Given the description of an element on the screen output the (x, y) to click on. 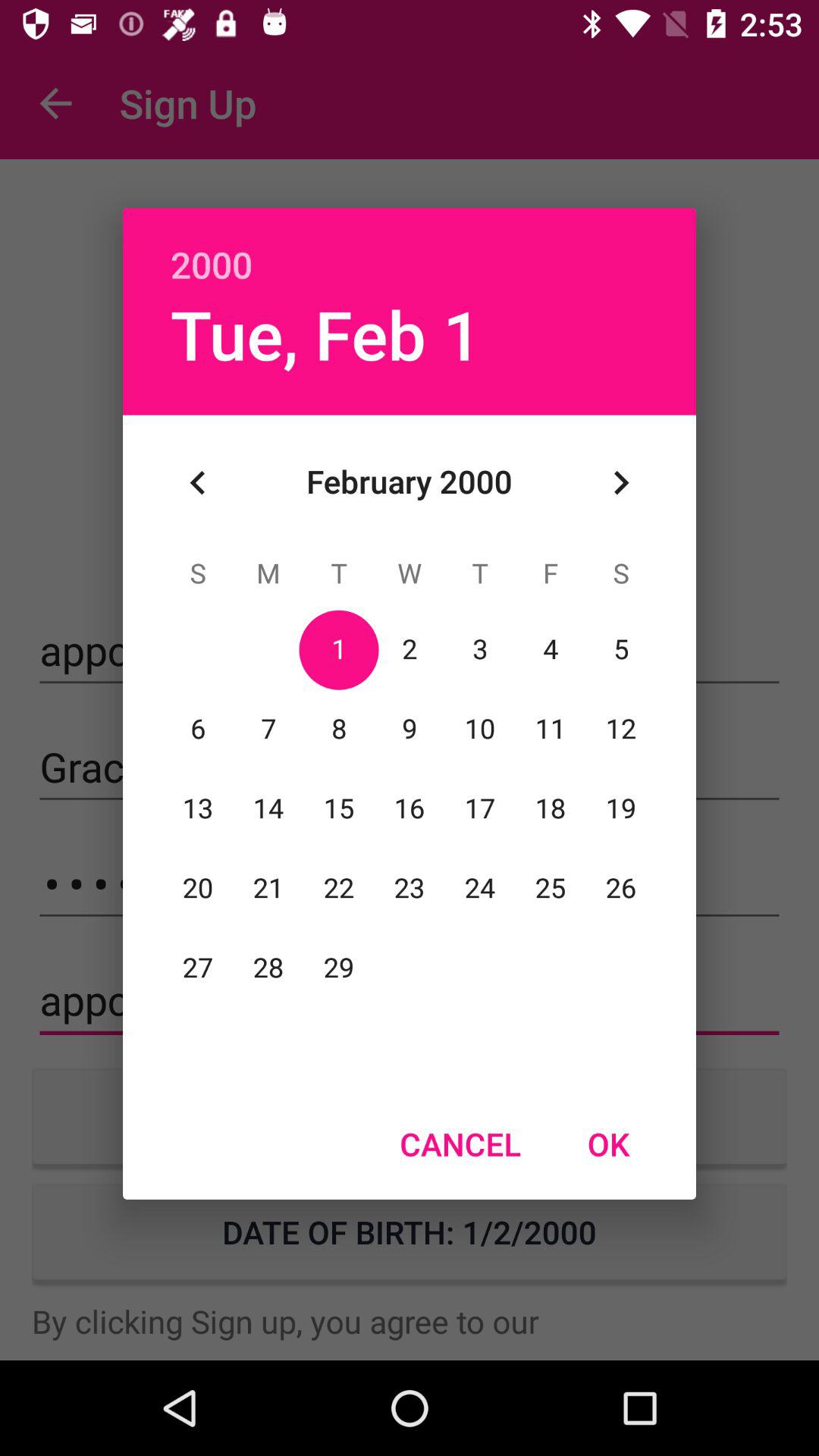
press item below tue, feb 1 (197, 482)
